Given the description of an element on the screen output the (x, y) to click on. 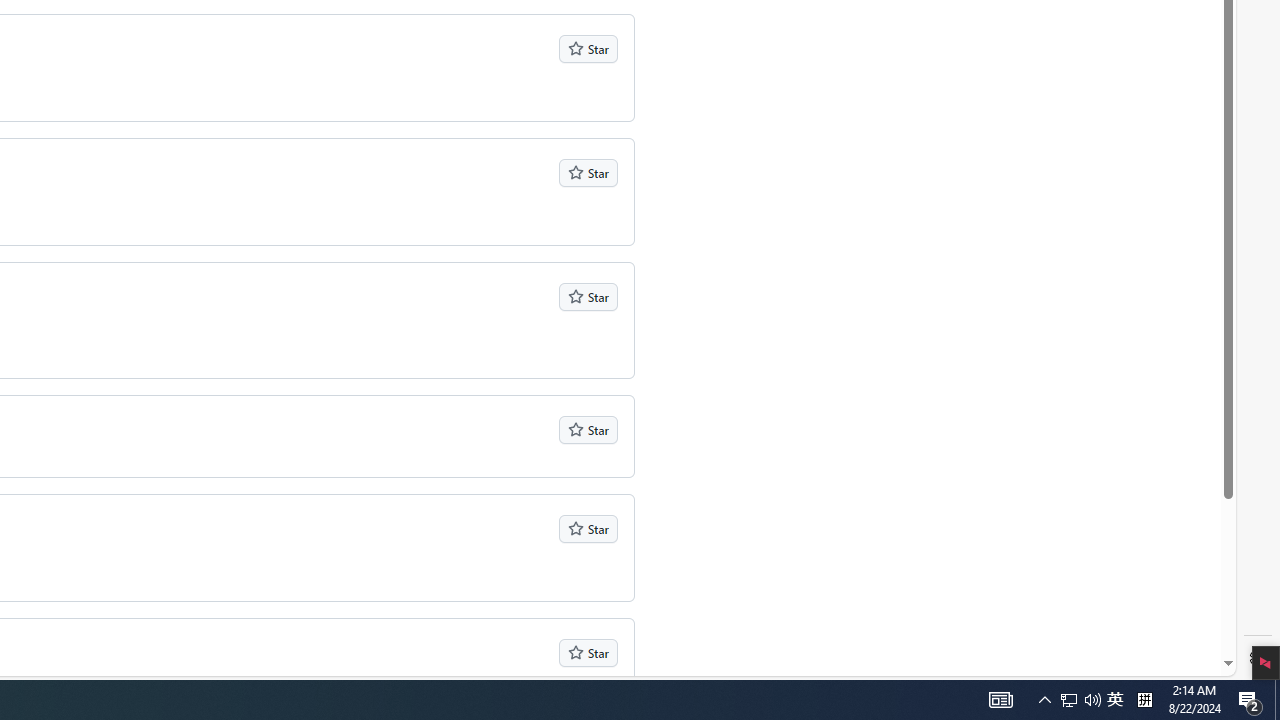
Star (588, 652)
